Given the description of an element on the screen output the (x, y) to click on. 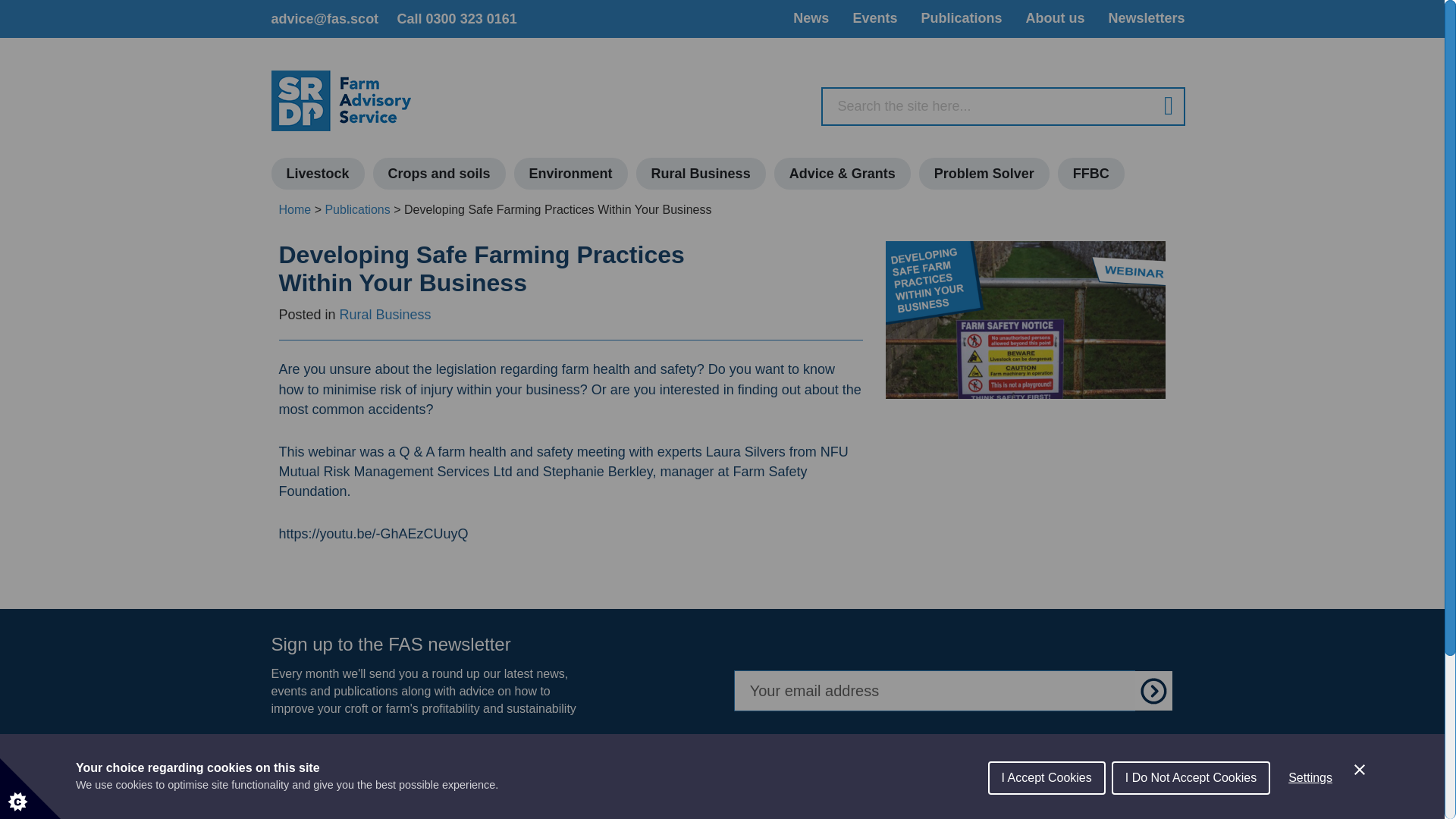
Publications (960, 17)
Search (1161, 105)
fas-logo (341, 100)
Newsletters (1146, 17)
Submit (1154, 690)
Settings (1309, 802)
Call 0300 323 0161 (456, 18)
About us (1054, 17)
Crops and soils (438, 173)
Events (873, 17)
